Given the description of an element on the screen output the (x, y) to click on. 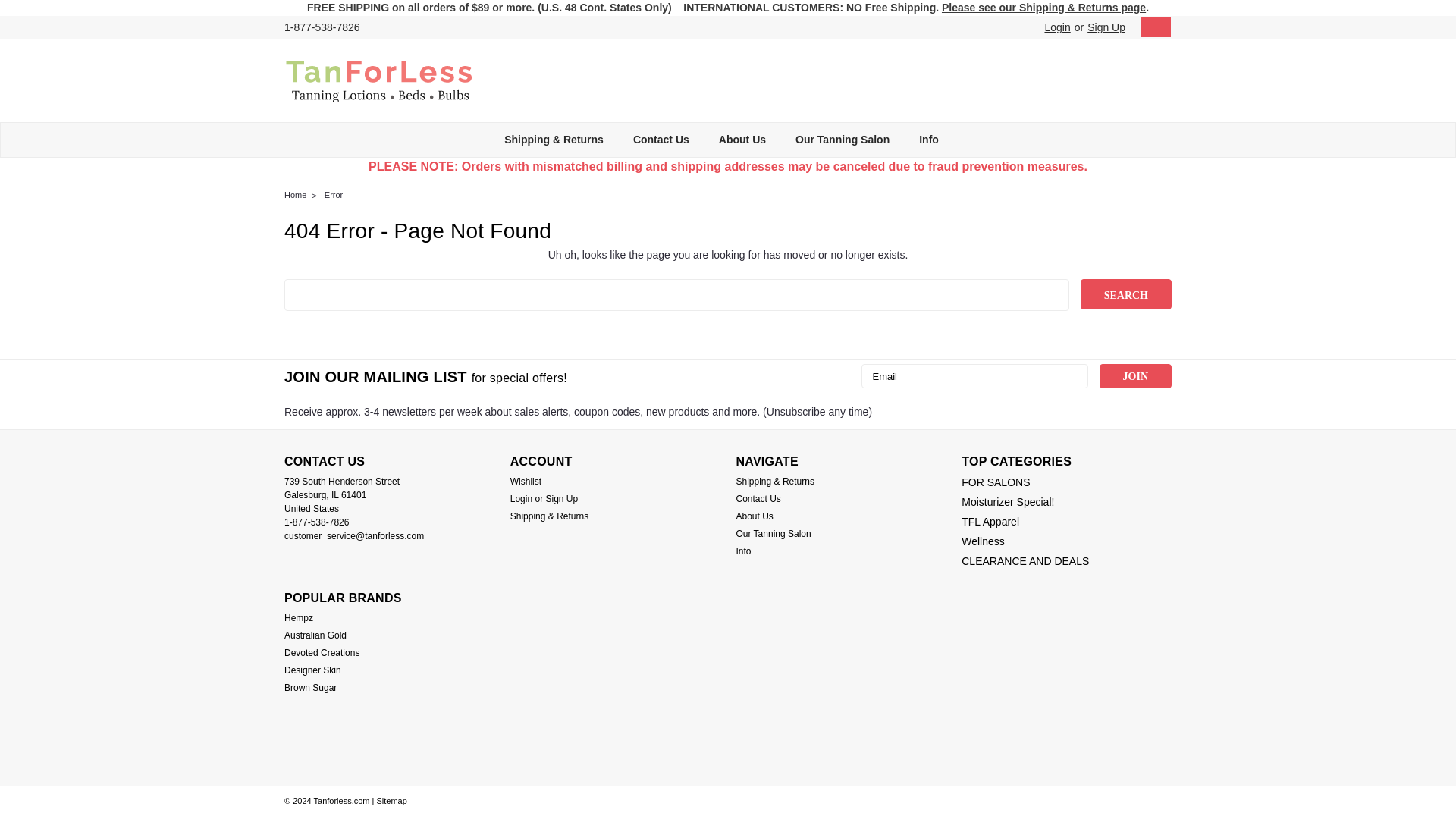
Login (1056, 26)
Join (1135, 375)
Tanforless.com (378, 79)
Search (1126, 294)
Sign Up (1104, 26)
